Given the description of an element on the screen output the (x, y) to click on. 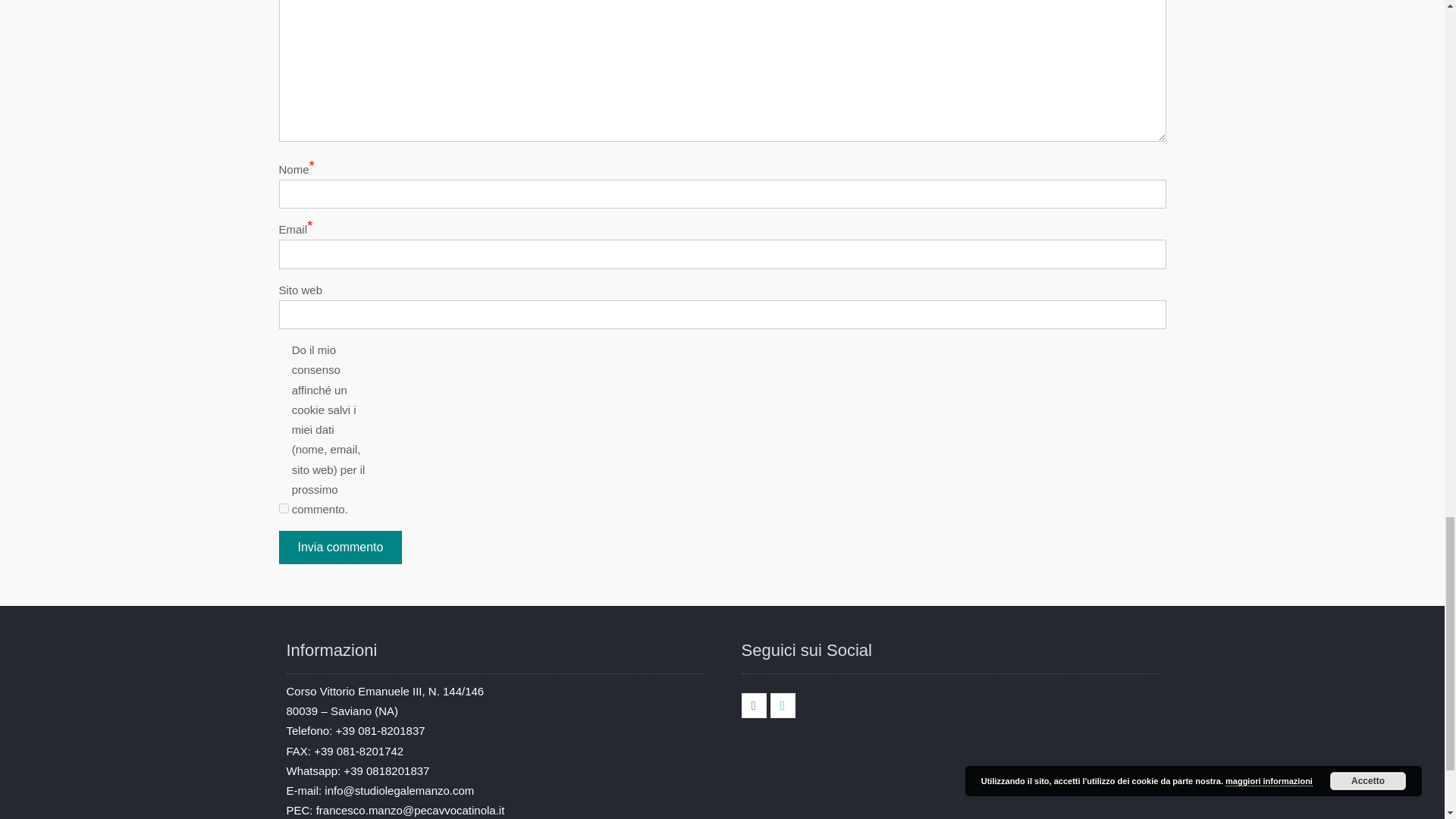
yes (283, 508)
Invia commento (341, 547)
